Given the description of an element on the screen output the (x, y) to click on. 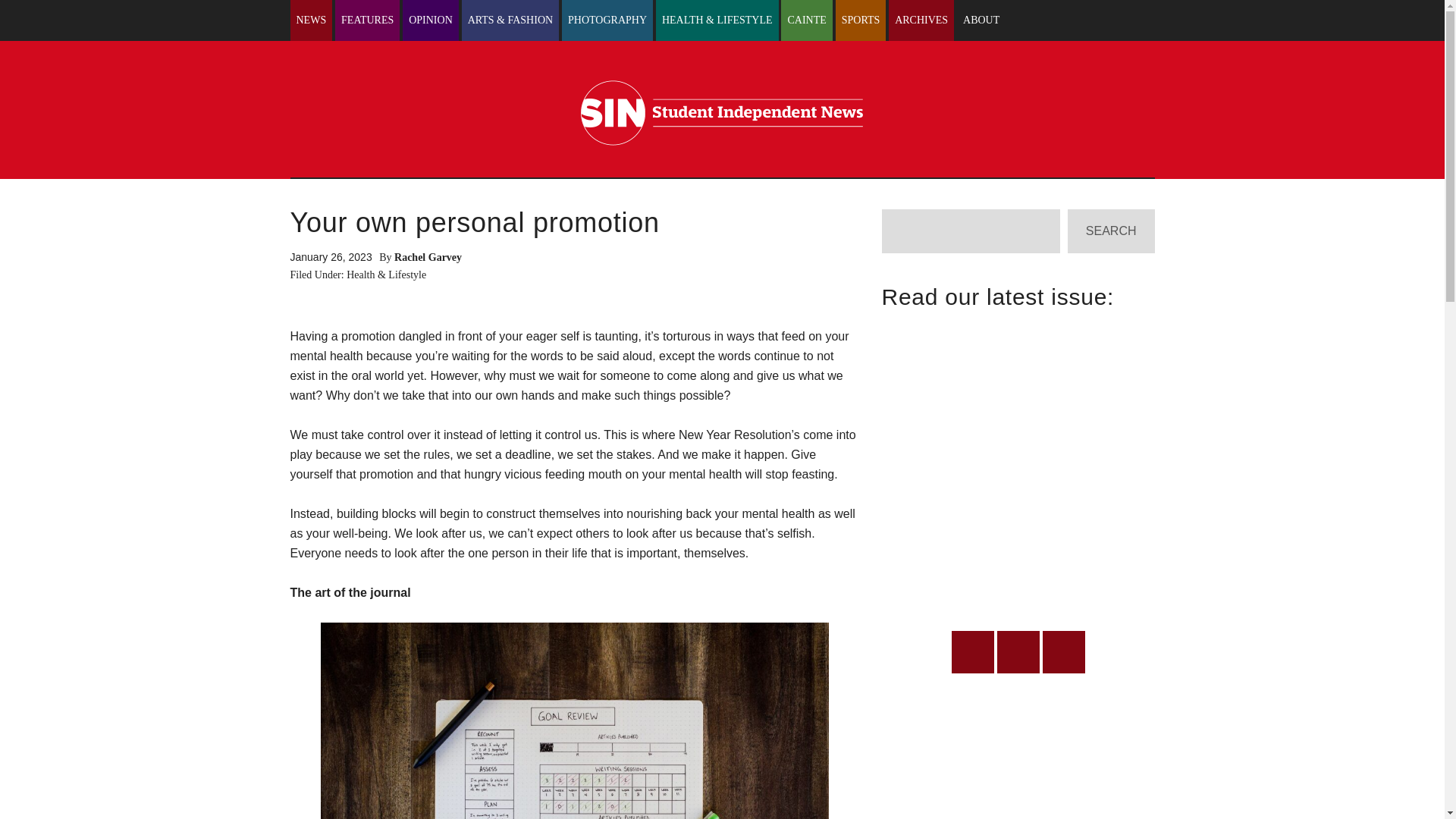
NEWS (310, 20)
CAINTE (805, 20)
OPINION (430, 20)
FEATURES (366, 20)
PHOTOGRAPHY (607, 20)
